Given the description of an element on the screen output the (x, y) to click on. 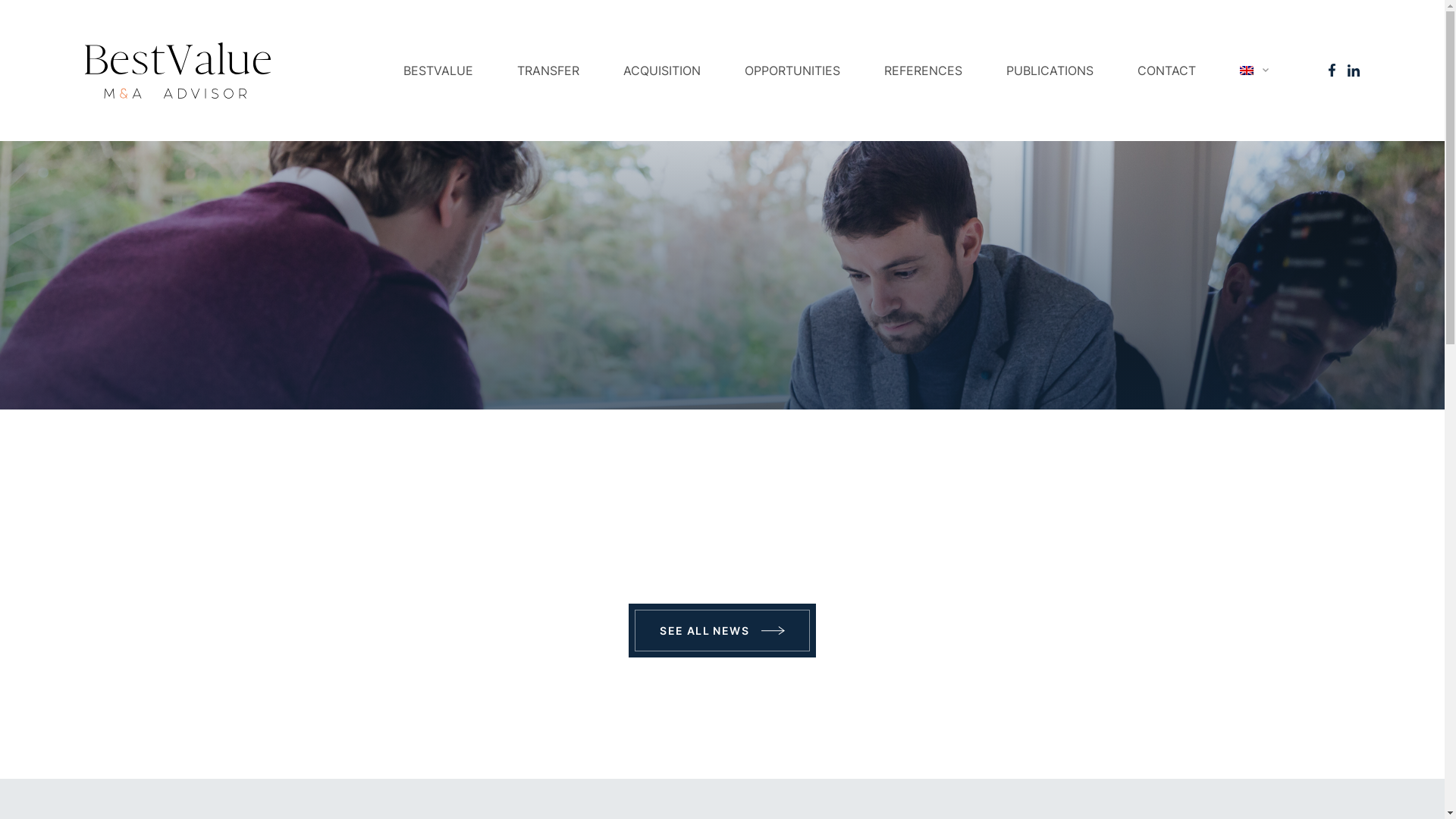
REFERENCES Element type: text (923, 70)
OPPORTUNITIES Element type: text (792, 70)
PUBLICATIONS Element type: text (1049, 70)
BESTVALUE Element type: text (438, 70)
ACQUISITION Element type: text (661, 70)
TRANSFER Element type: text (548, 70)
CONTACT Element type: text (1166, 70)
SEE ALL NEWS Element type: text (721, 630)
